Given the description of an element on the screen output the (x, y) to click on. 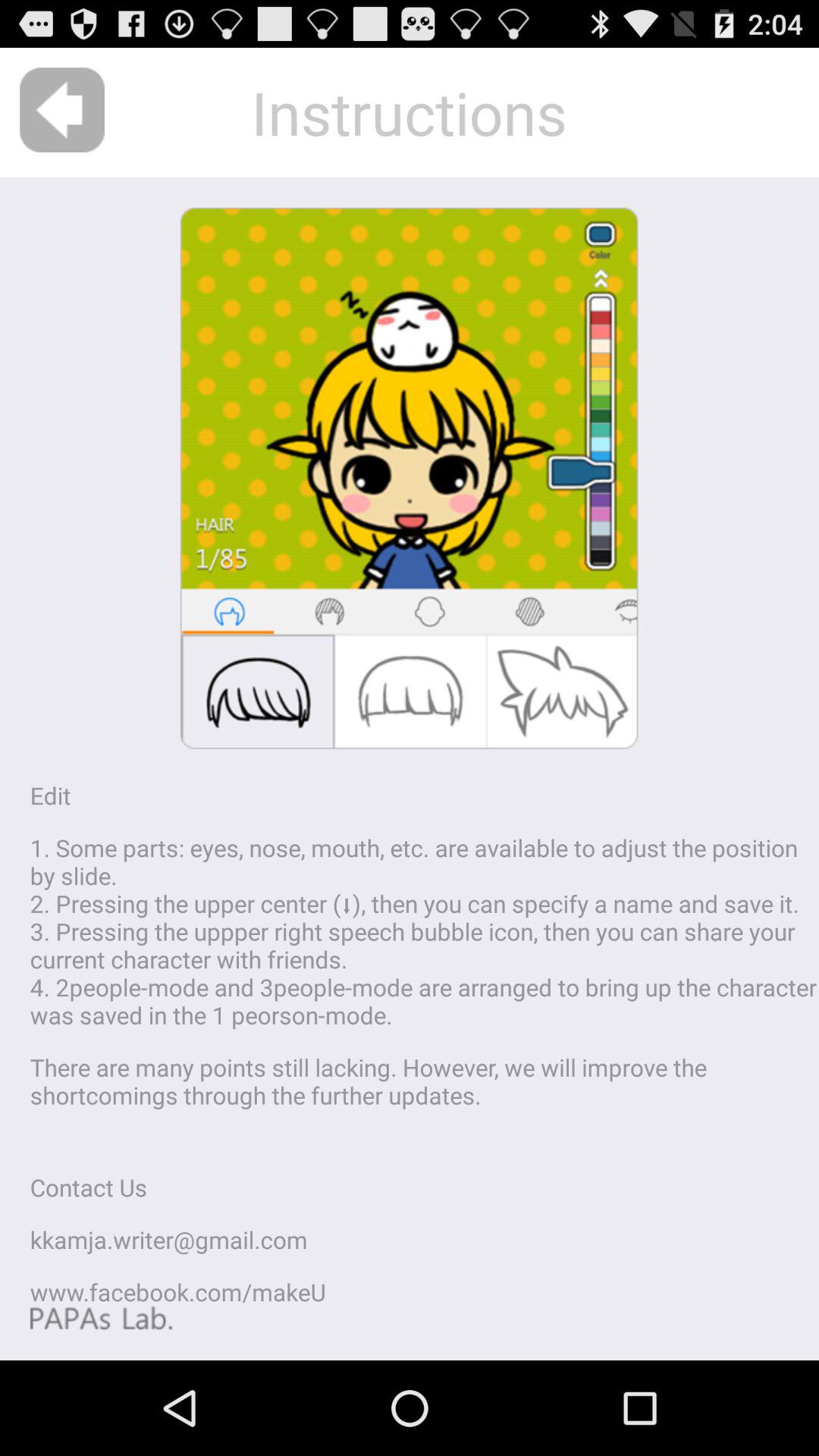
tap the icon at the top left corner (61, 109)
